Given the description of an element on the screen output the (x, y) to click on. 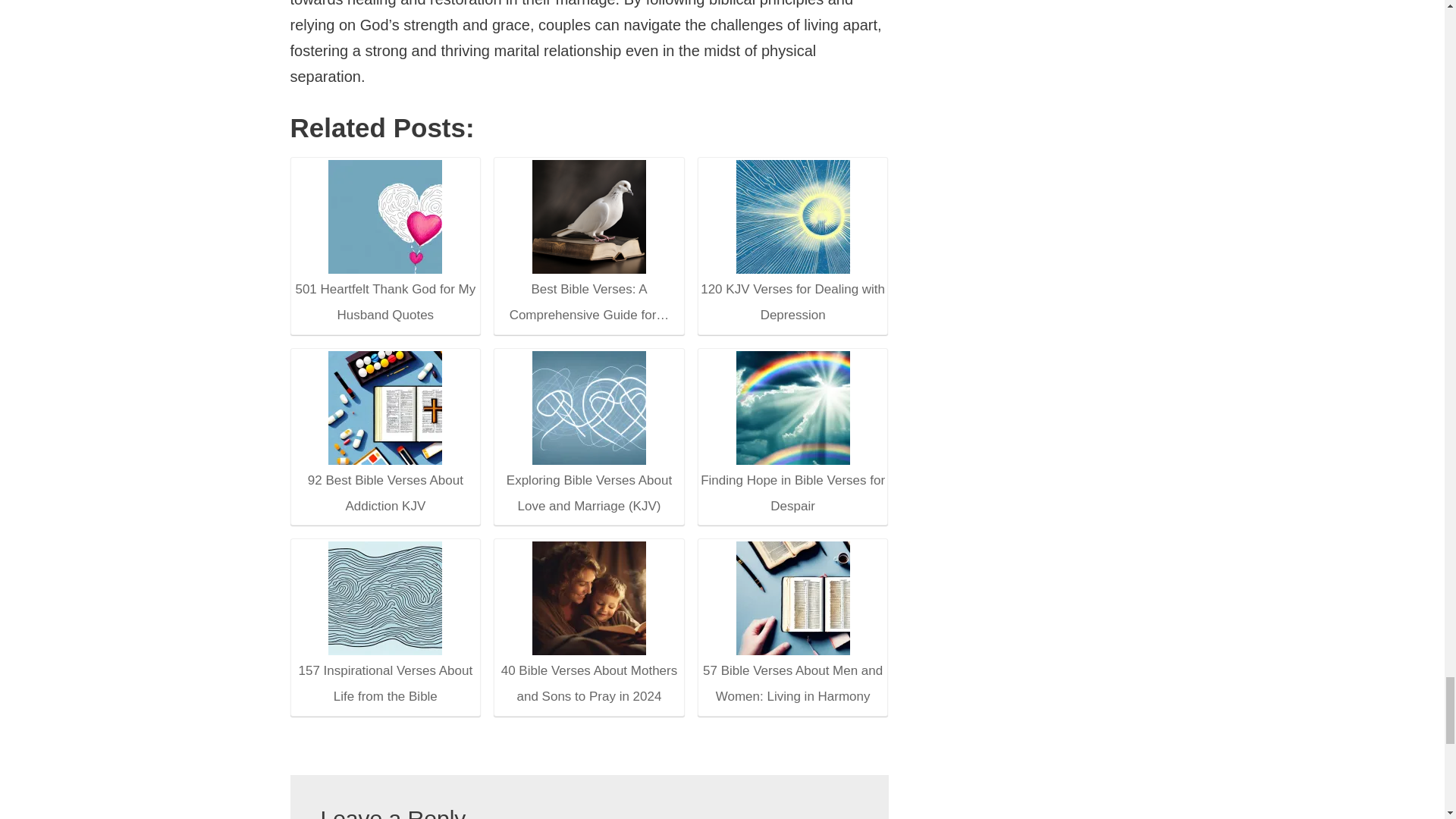
92 Best Bible Verses About Addiction KJV (385, 407)
Finding Hope in Bible Verses for Despair (792, 434)
57 Bible Verses About Men and Women: Living in Harmony (793, 598)
157 Inspirational Verses About Life from the Bible (385, 598)
501 Heartfelt Thank God for My Husband Quotes (384, 243)
120 KJV Verses for Dealing with Depression (792, 243)
40 Bible Verses About Mothers and Sons to Pray in 2024 (588, 625)
40 Bible Verses About Mothers and Sons to Pray in 2024 (589, 598)
120 KJV Verses for Dealing with Depression (793, 216)
501 Heartfelt Thank God for My Husband Quotes (385, 216)
Finding Hope in Bible Verses for Despair (793, 407)
157 Inspirational Verses About Life from the Bible (384, 625)
57 Bible Verses About Men and Women: Living in Harmony (792, 625)
92 Best Bible Verses About Addiction KJV (384, 434)
